Given the description of an element on the screen output the (x, y) to click on. 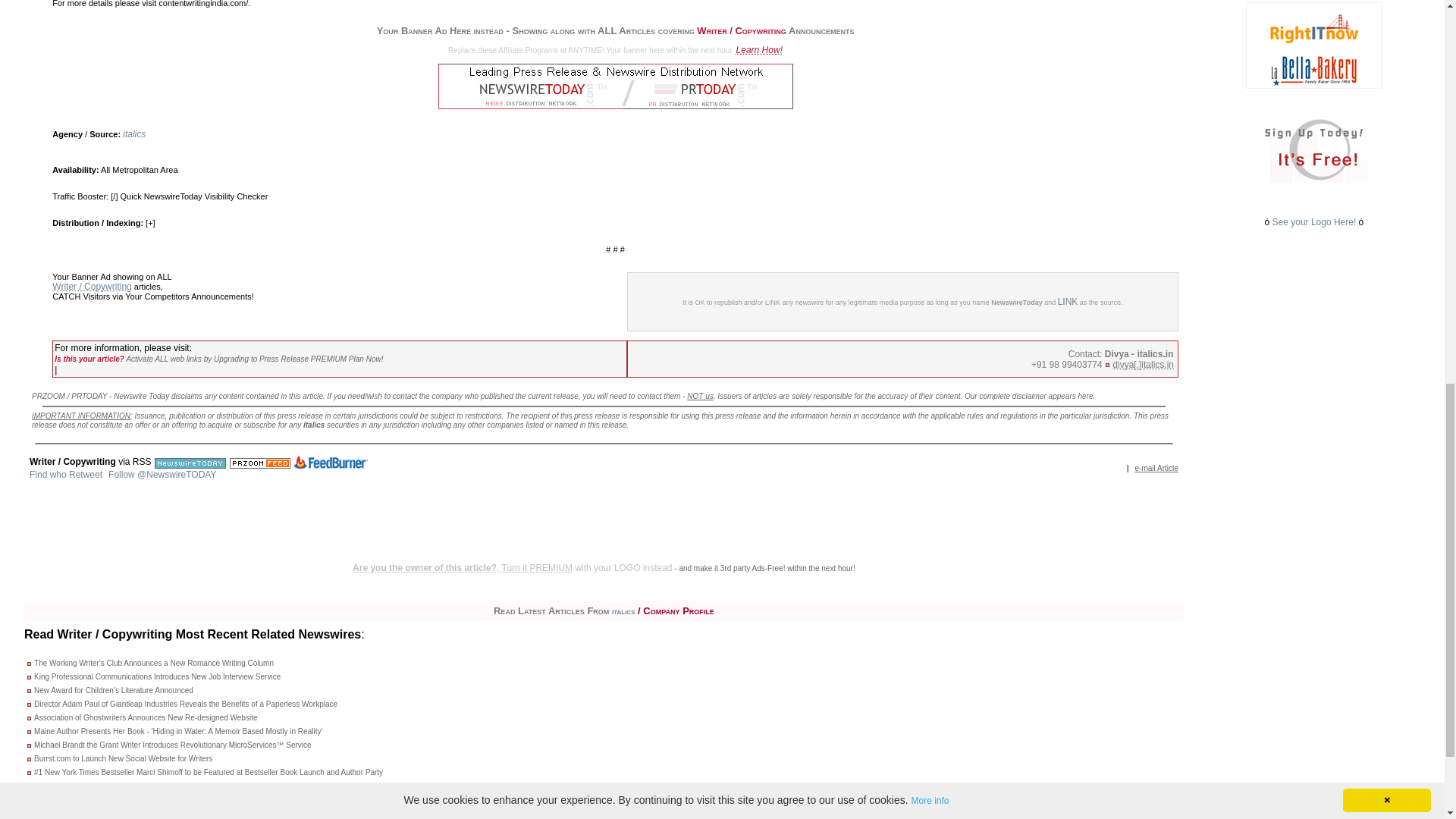
LINK (1068, 301)
Quick NewswireToday (161, 195)
here (1085, 395)
italics (133, 133)
Learn How! (759, 50)
e-mail Article (1156, 467)
Find who Retweet (65, 474)
